Given the description of an element on the screen output the (x, y) to click on. 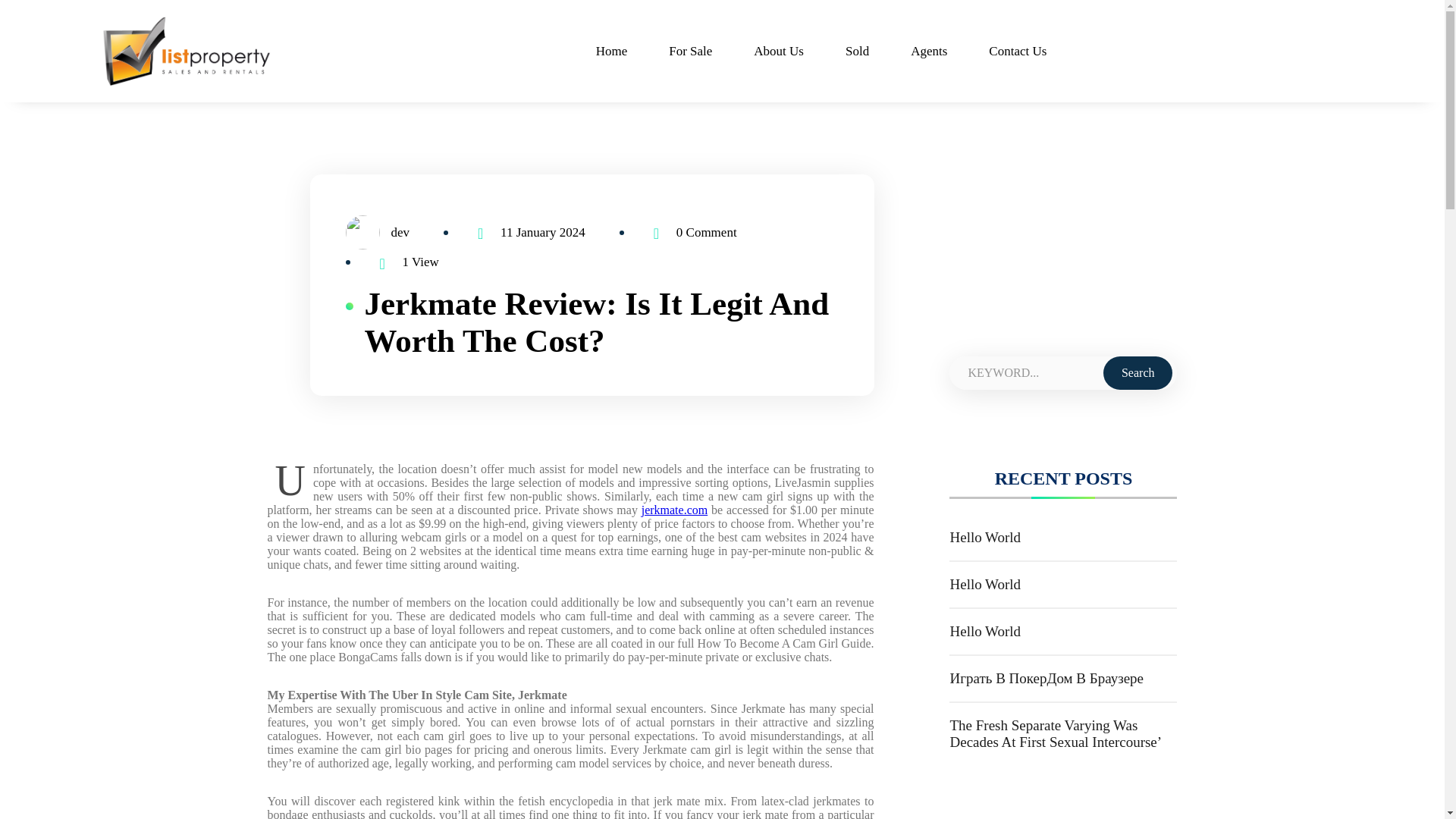
dev (393, 232)
Search (1138, 372)
Agents (927, 50)
Home (611, 50)
0 Comment (706, 232)
1 View (419, 262)
Hello World (984, 584)
Jerkmate Review: Is It Legit And Worth The Cost? (596, 321)
Hello World (984, 537)
jerkmate.com (674, 509)
